Given the description of an element on the screen output the (x, y) to click on. 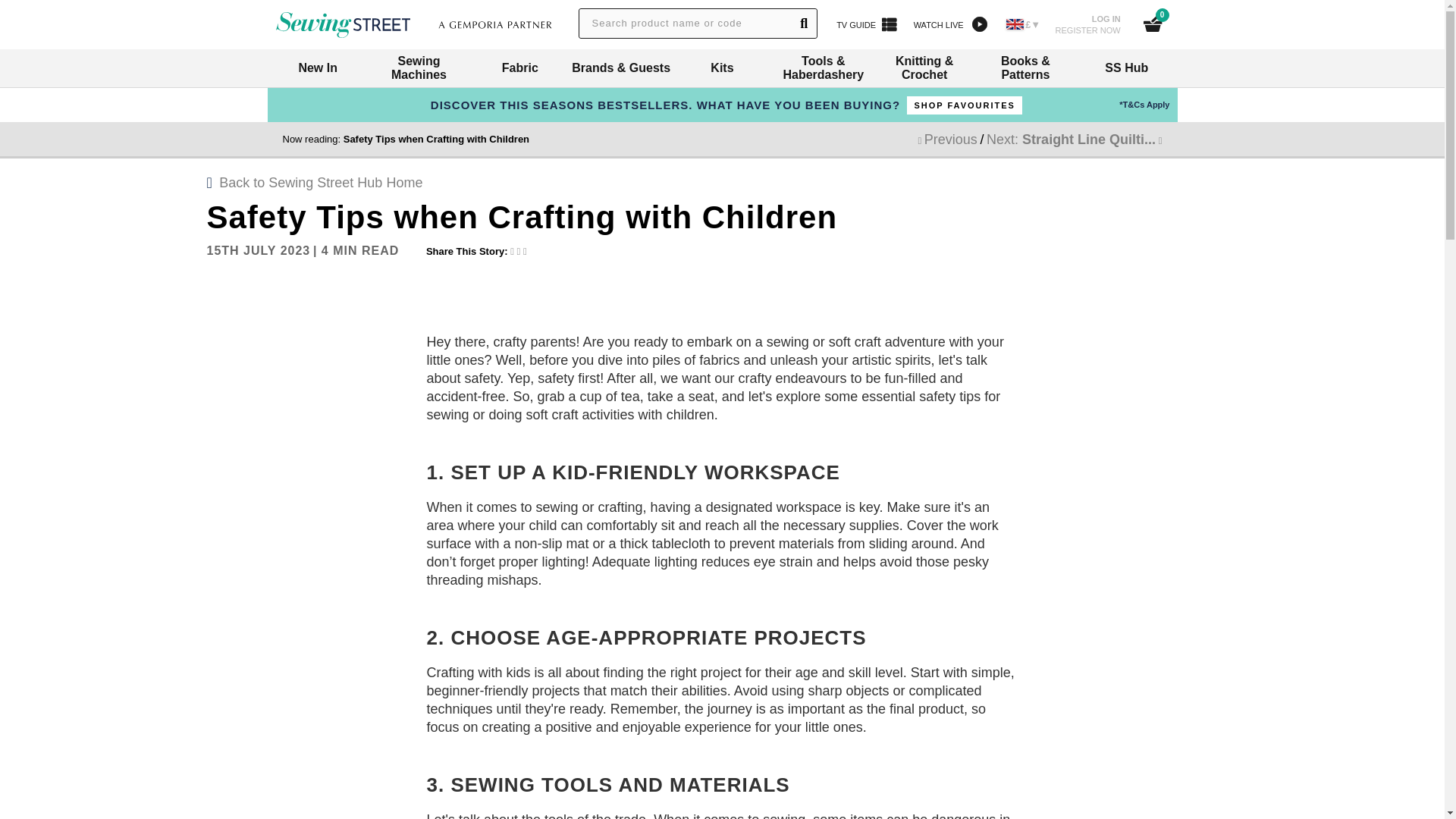
Jewellery Making Supplies UK (1088, 24)
TV GUIDE (342, 24)
WATCH LIVE (866, 24)
Sewing Machines (949, 24)
Fabric (418, 67)
New In (519, 67)
0 (317, 67)
